Given the description of an element on the screen output the (x, y) to click on. 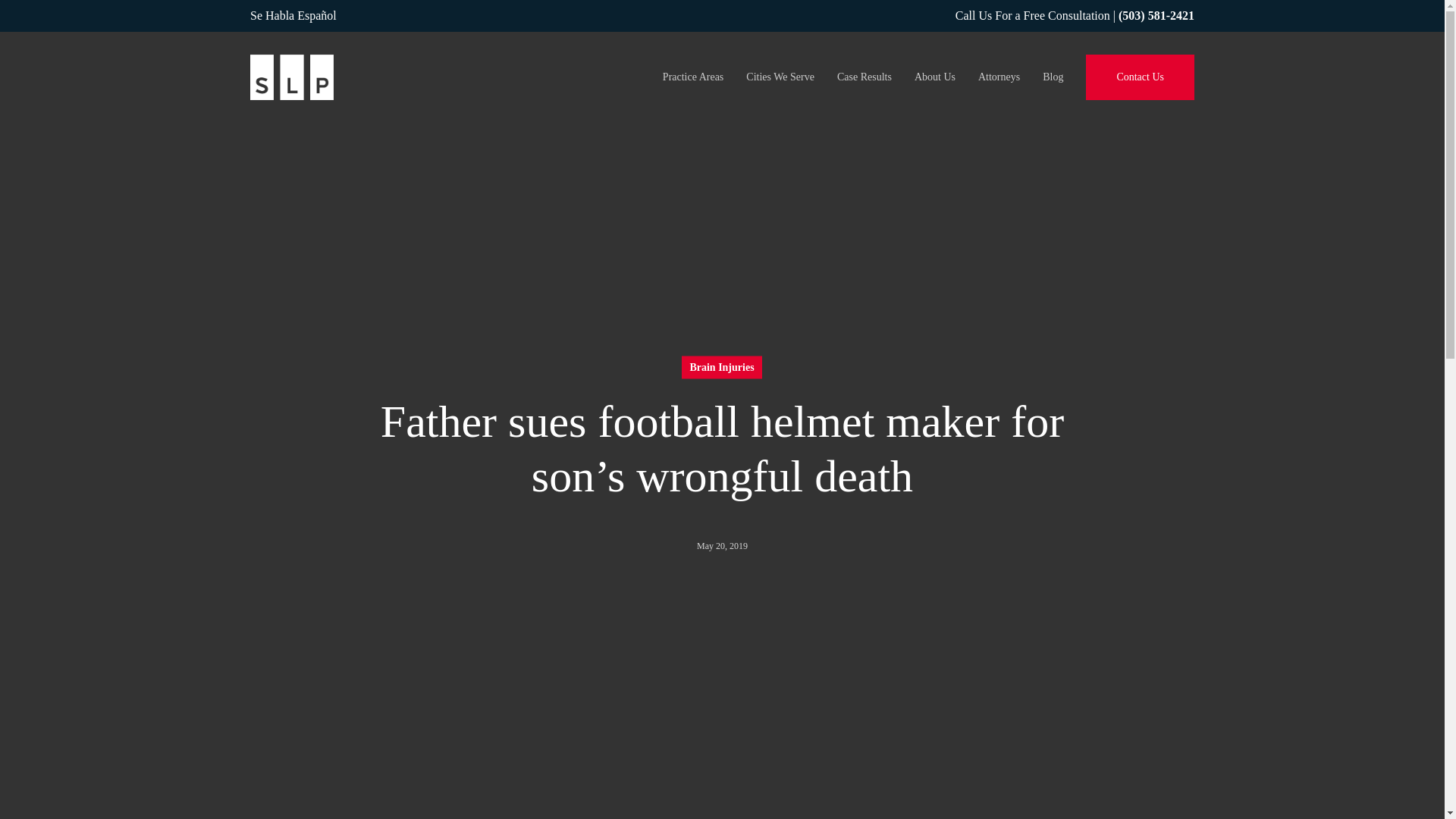
Contact Us (1139, 77)
Case Results (864, 77)
Brain Injuries (721, 367)
About Us (934, 77)
Blog (1052, 77)
Practice Areas (692, 77)
Attorneys (999, 77)
Cities We Serve (779, 77)
